Given the description of an element on the screen output the (x, y) to click on. 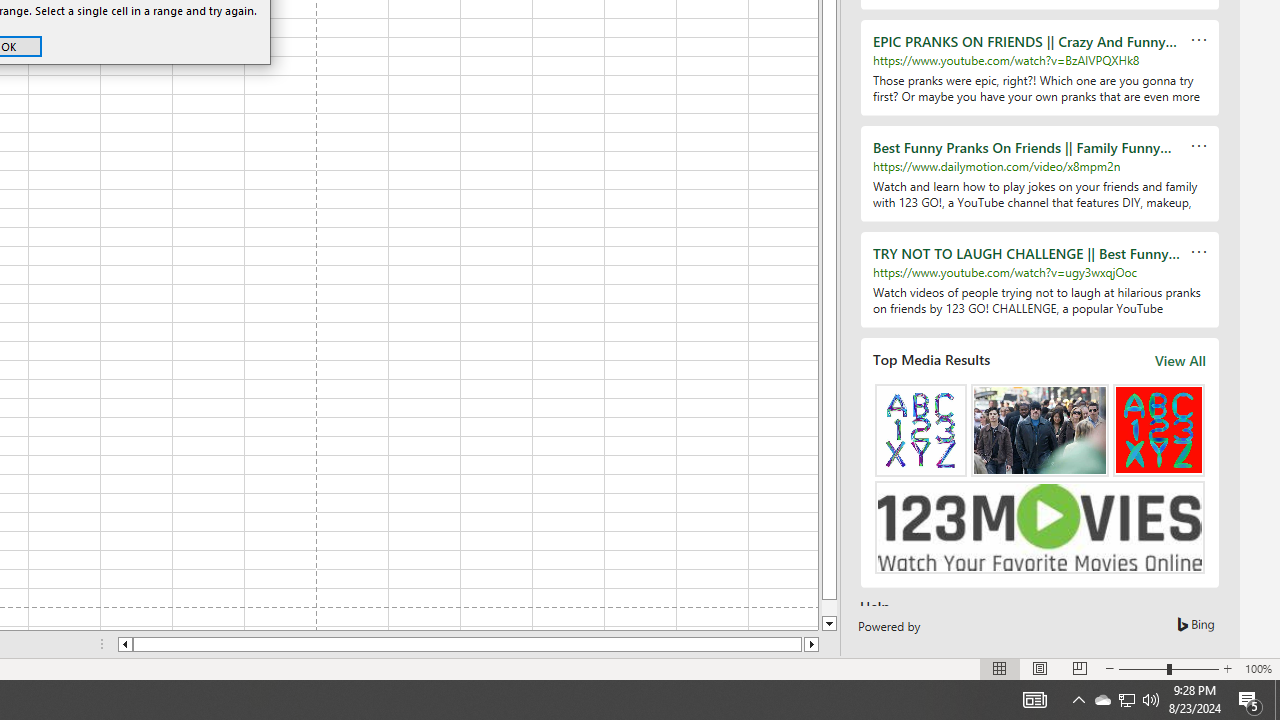
User Promoted Notification Area (1126, 699)
Notification Chevron (1078, 699)
Action Center, 5 new notifications (1250, 699)
AutomationID: 4105 (1126, 699)
Q2790: 100% (1034, 699)
Show desktop (1151, 699)
